Given the description of an element on the screen output the (x, y) to click on. 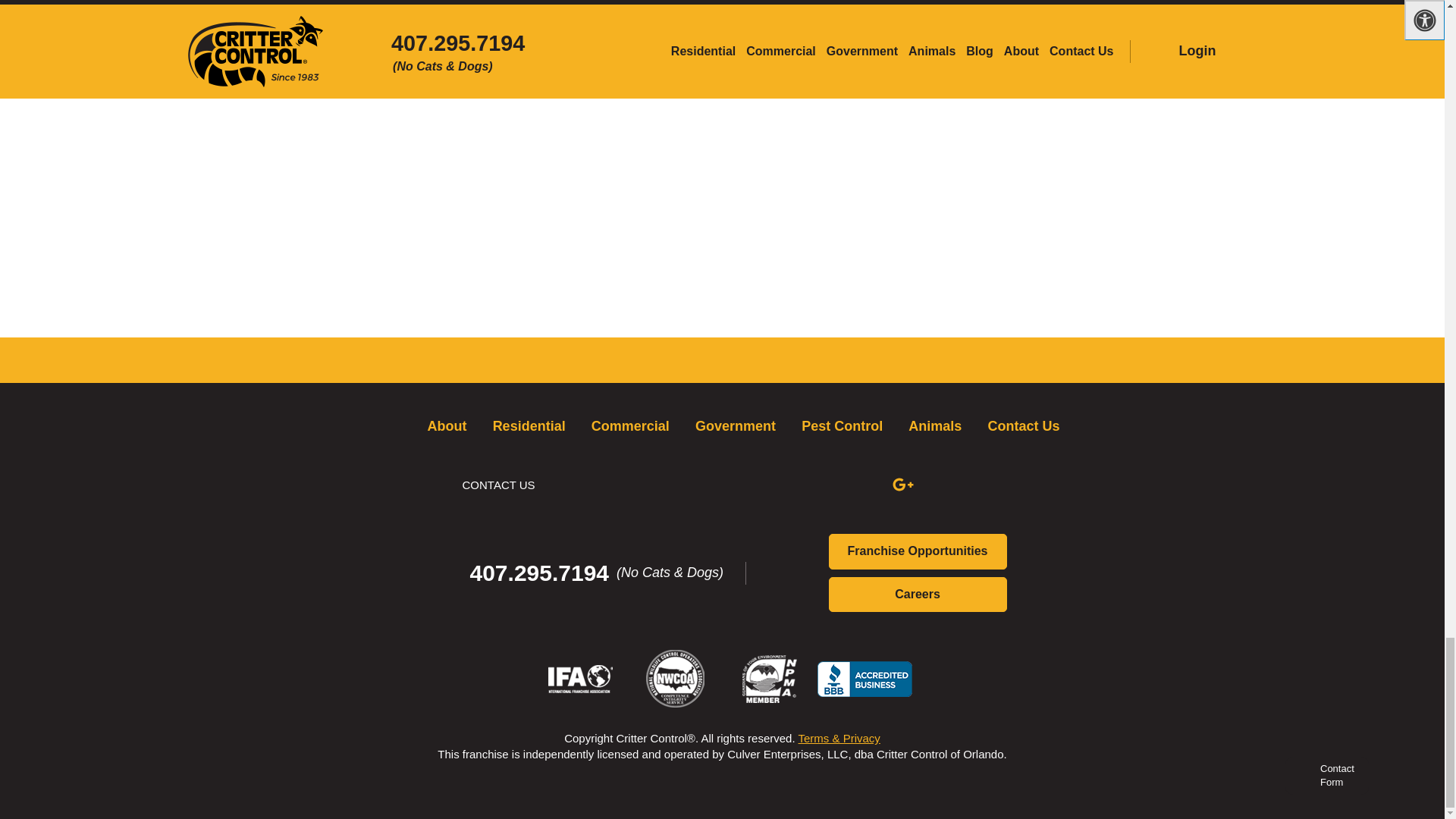
Follow us on Twitter (709, 485)
Find us on Google Maps (898, 485)
Call Us Today (592, 572)
Follow us on YouTube (802, 485)
Contact Us (486, 484)
Follow us on Linkedin (995, 485)
Follow us on Facebook (617, 485)
